Given the description of an element on the screen output the (x, y) to click on. 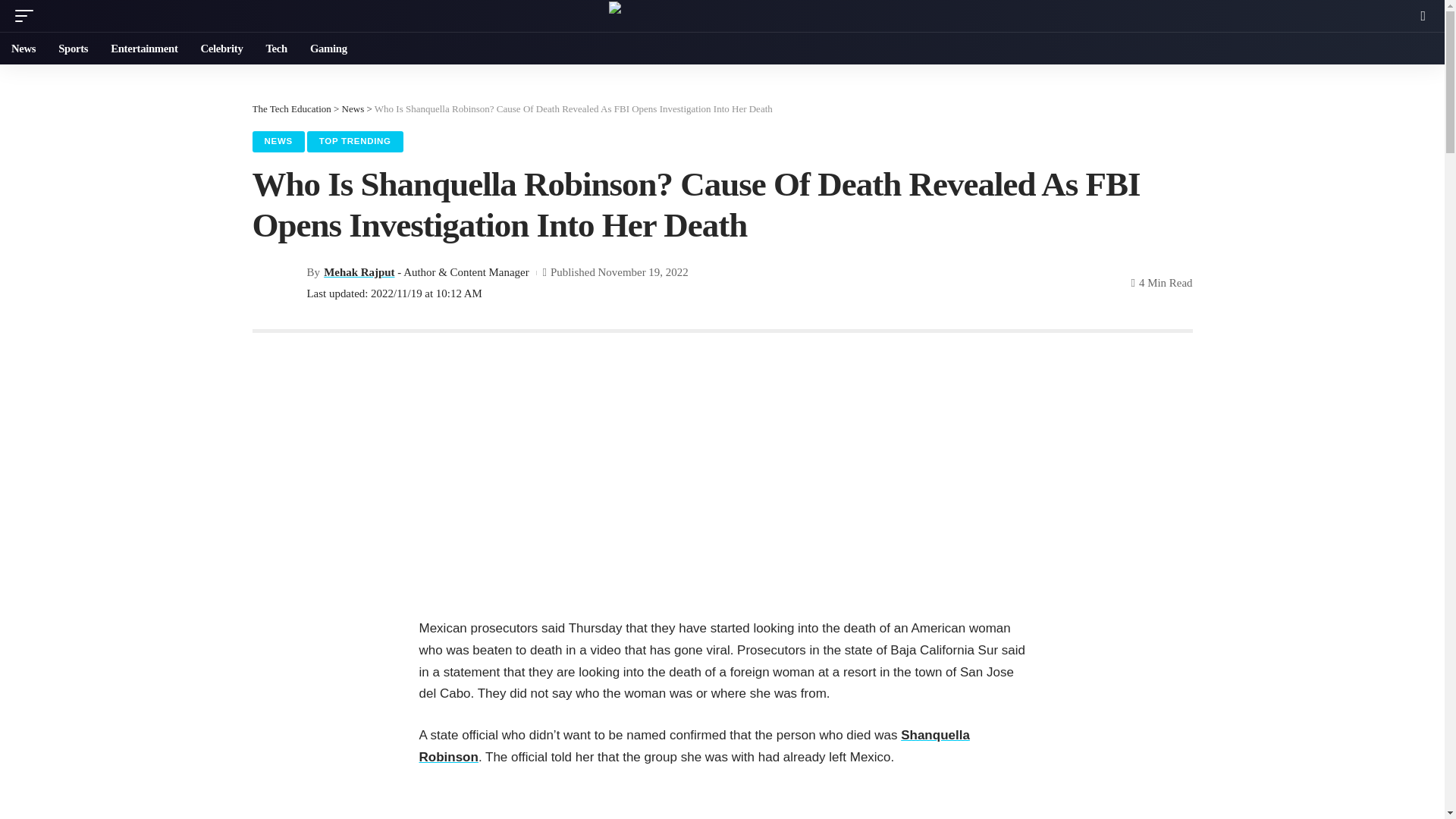
NEWS (277, 141)
TOP TRENDING (355, 141)
Entertainment (144, 48)
Sports (72, 48)
The Tech Education (721, 15)
Mehak Rajput (358, 271)
Go to The Tech Education. (290, 108)
The Tech Education (290, 108)
Go to the News Category archives. (353, 108)
News (353, 108)
